Given the description of an element on the screen output the (x, y) to click on. 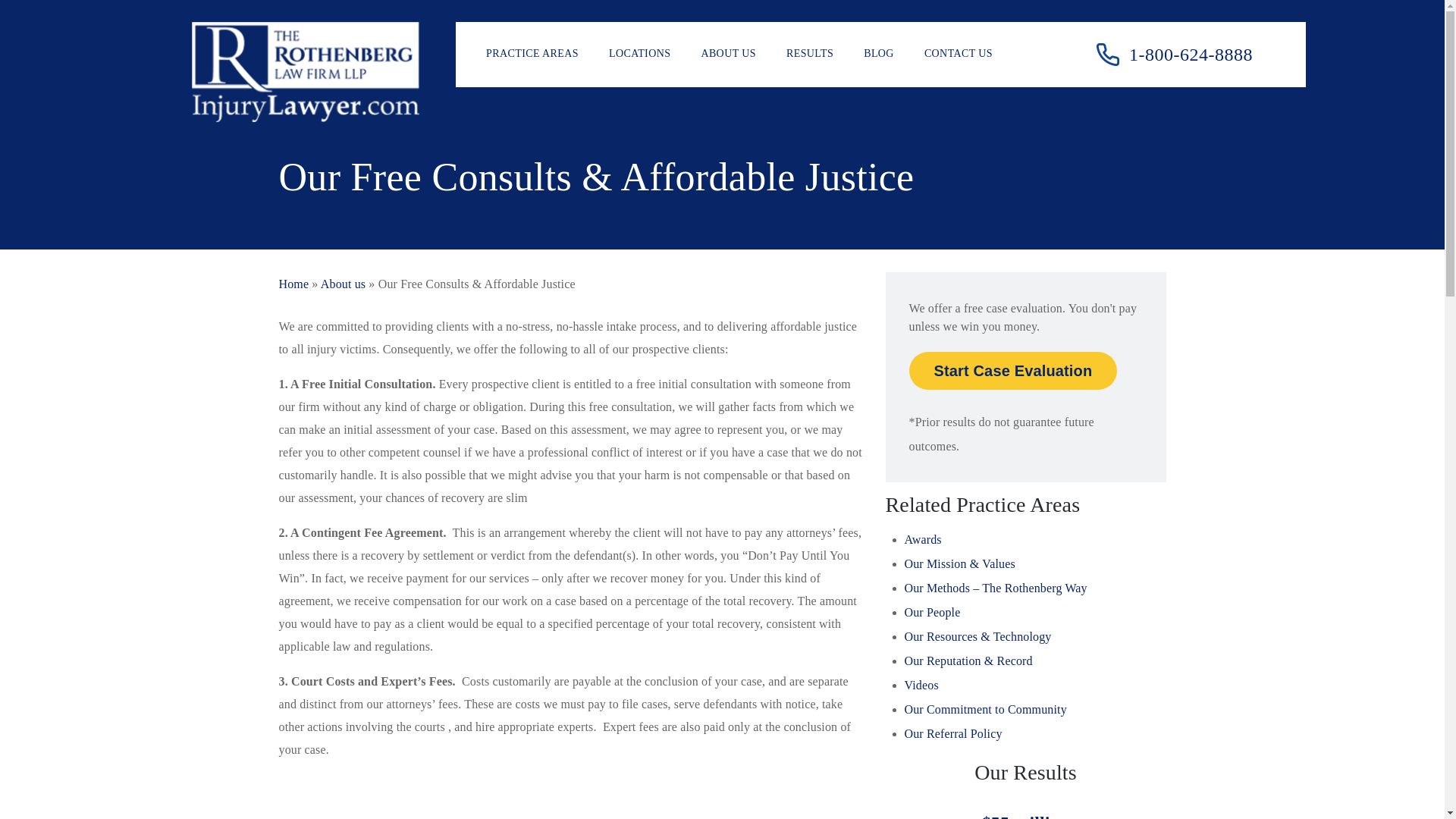
Phone icon (1107, 54)
LOCATIONS (638, 54)
1-800-624-8888 (1174, 54)
About us (342, 283)
CONTACT US (958, 54)
InjuryLawyer Logo (305, 72)
PRACTICE AREAS (532, 54)
Home (293, 283)
